Given the description of an element on the screen output the (x, y) to click on. 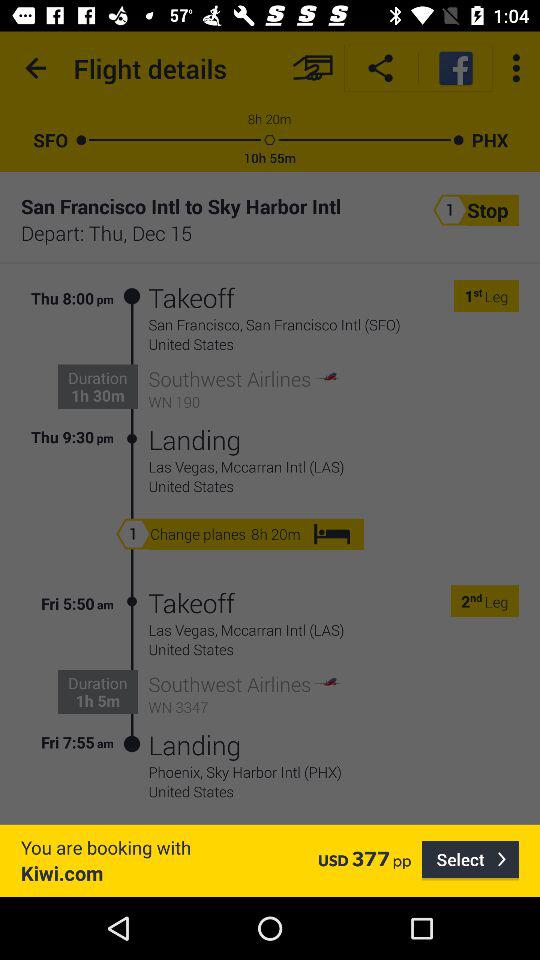
select item next to the pp icon (470, 860)
